Given the description of an element on the screen output the (x, y) to click on. 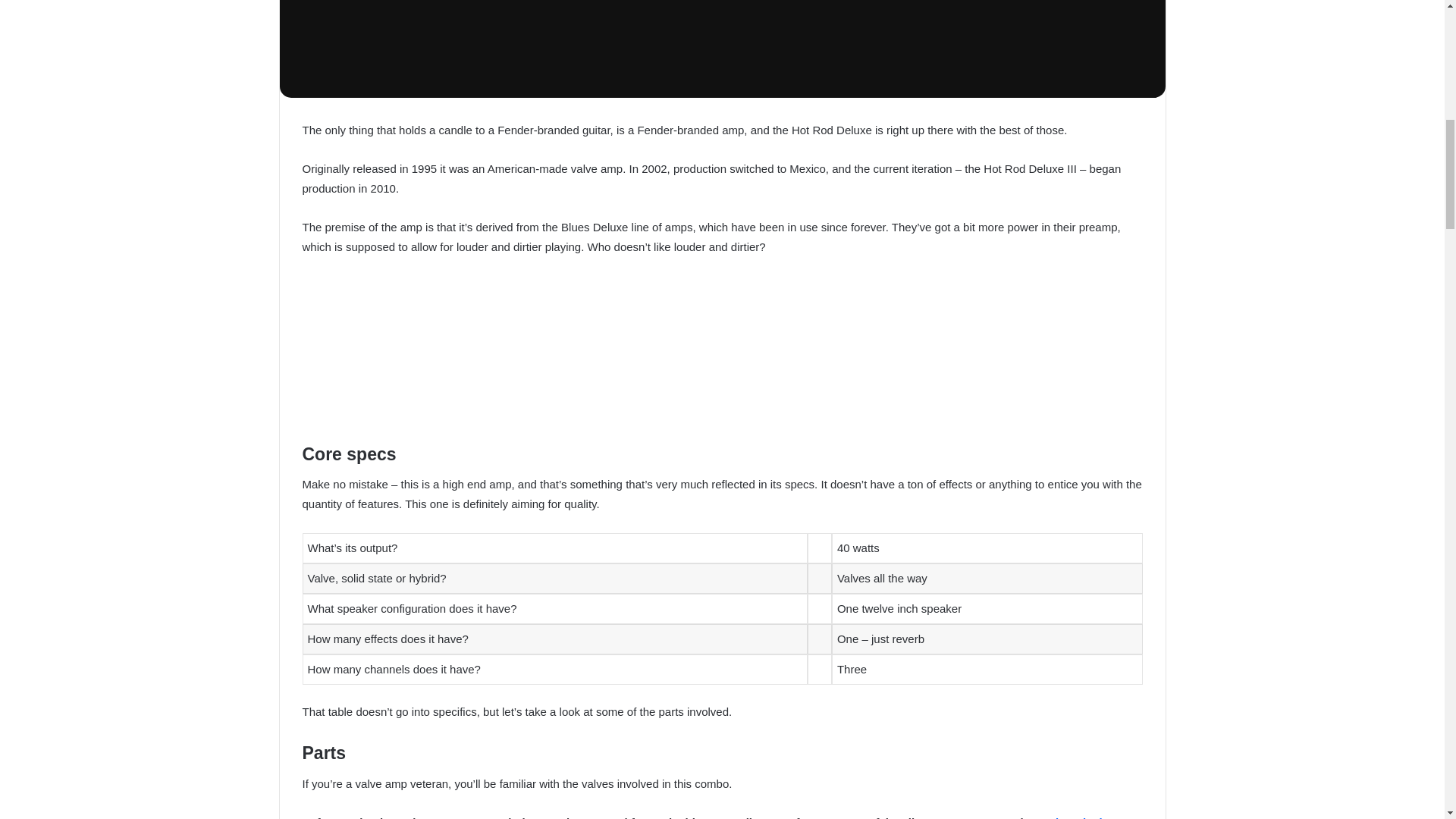
Fender Hot Rod Deluxe III (721, 48)
